Given the description of an element on the screen output the (x, y) to click on. 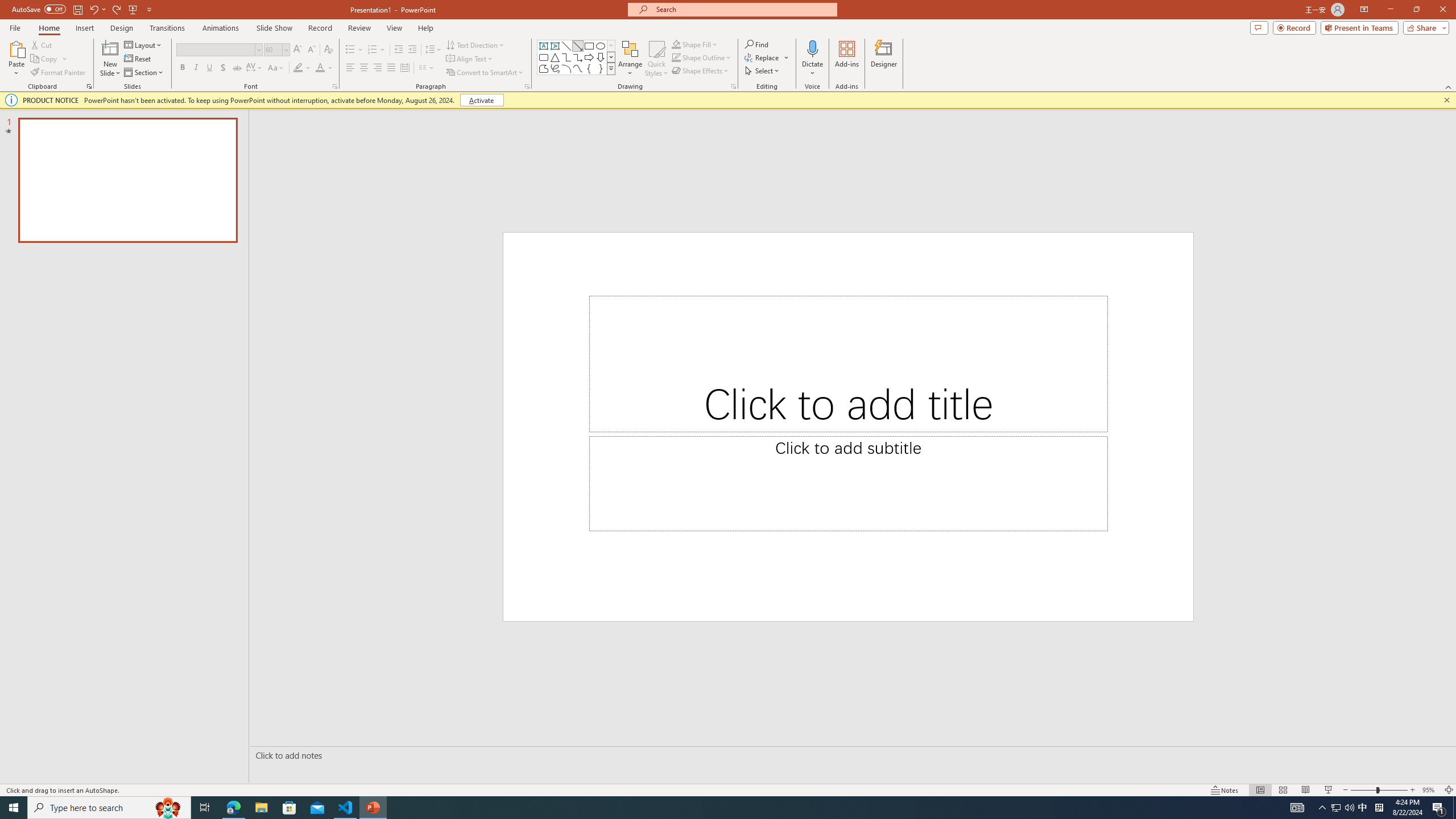
Shape Outline Dark Red, Accent 1 (675, 56)
